Given the description of an element on the screen output the (x, y) to click on. 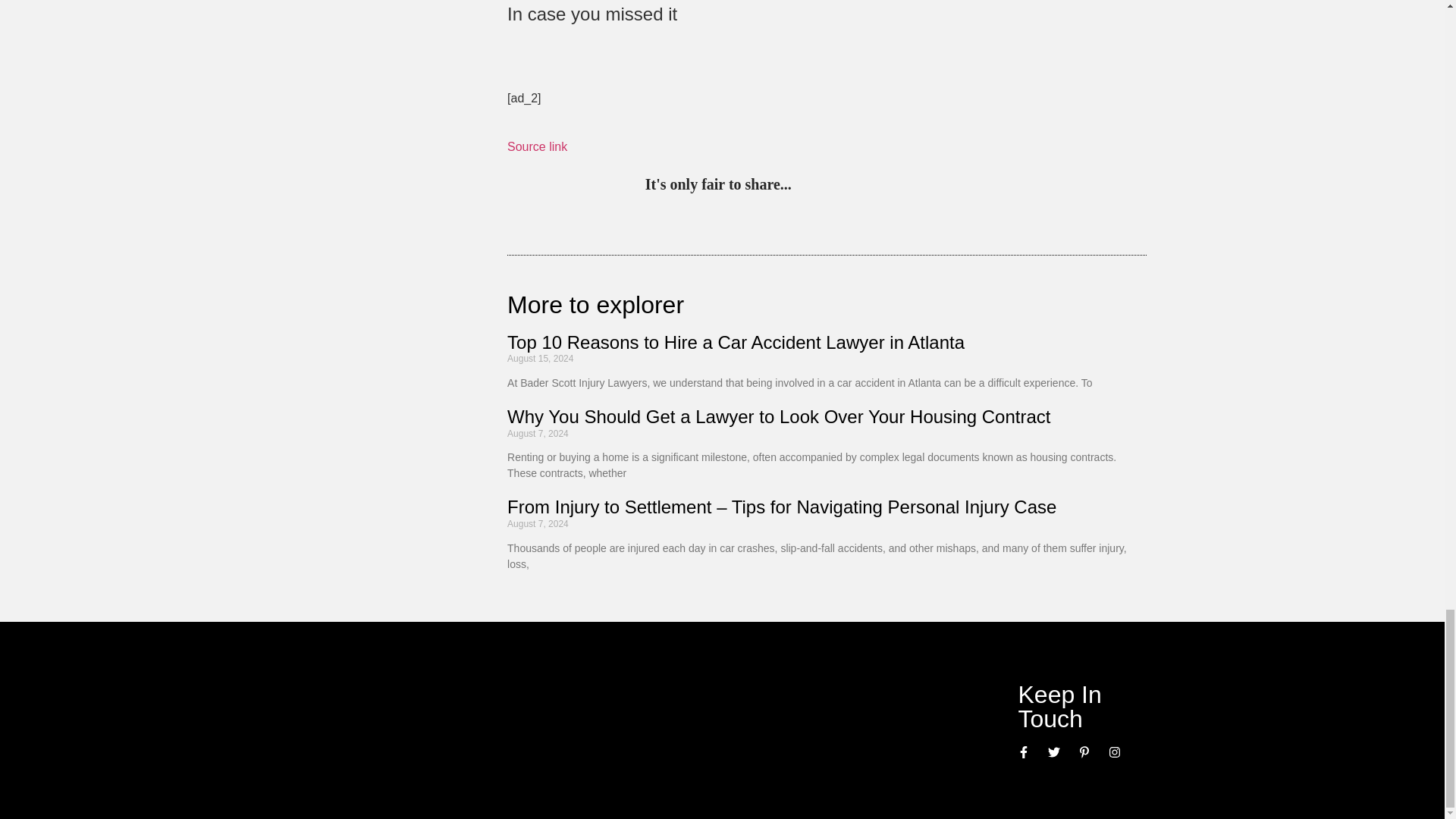
linkedin (869, 184)
facebook (931, 184)
email (962, 184)
pinterest (807, 184)
Top 10 Reasons to Hire a Car Accident Lawyer in Atlanta (734, 342)
print (993, 184)
google (900, 184)
twitter (837, 184)
Source link (536, 146)
